Given the description of an element on the screen output the (x, y) to click on. 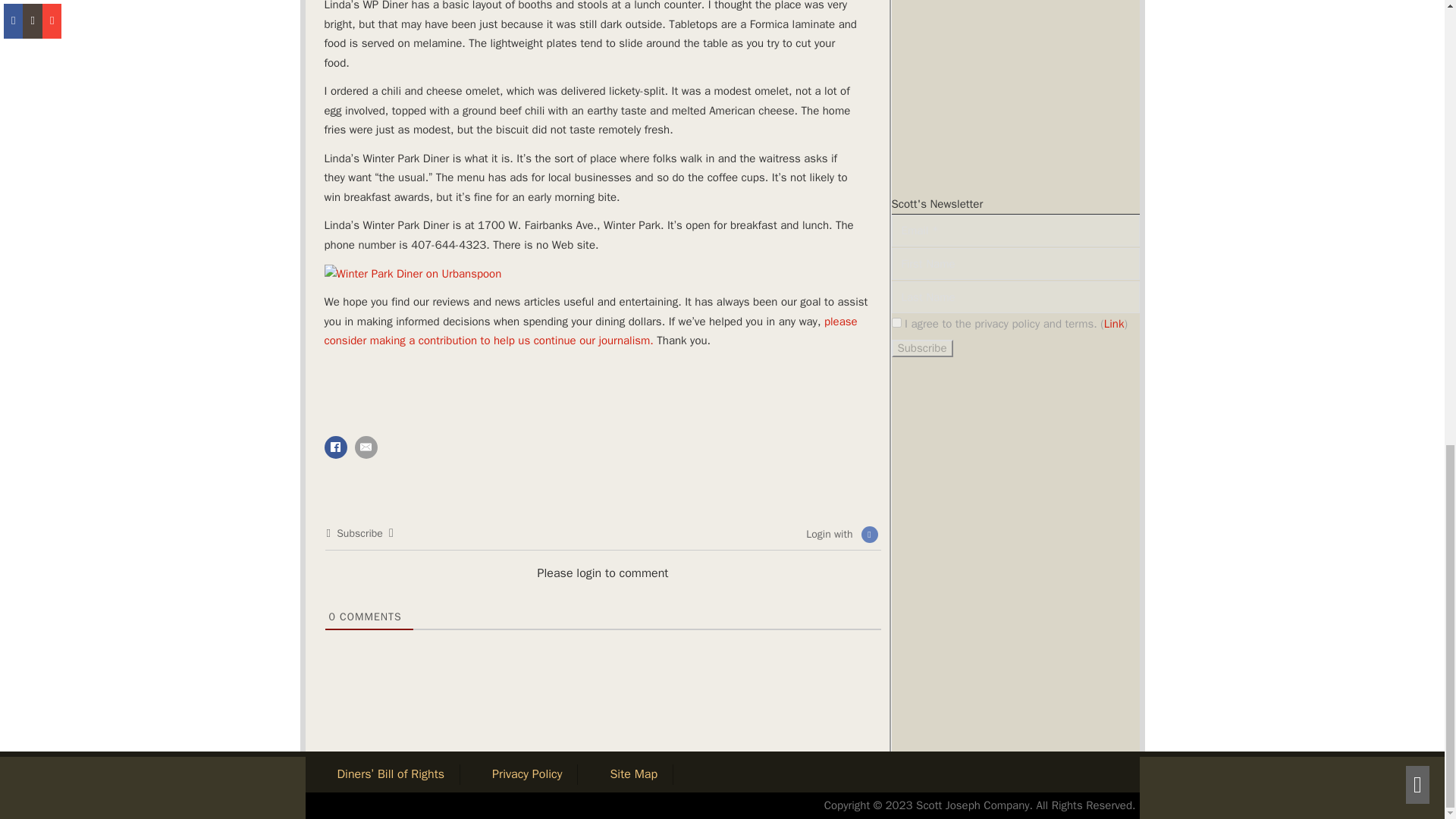
1 (913, 645)
Subscribe (939, 690)
